Given the description of an element on the screen output the (x, y) to click on. 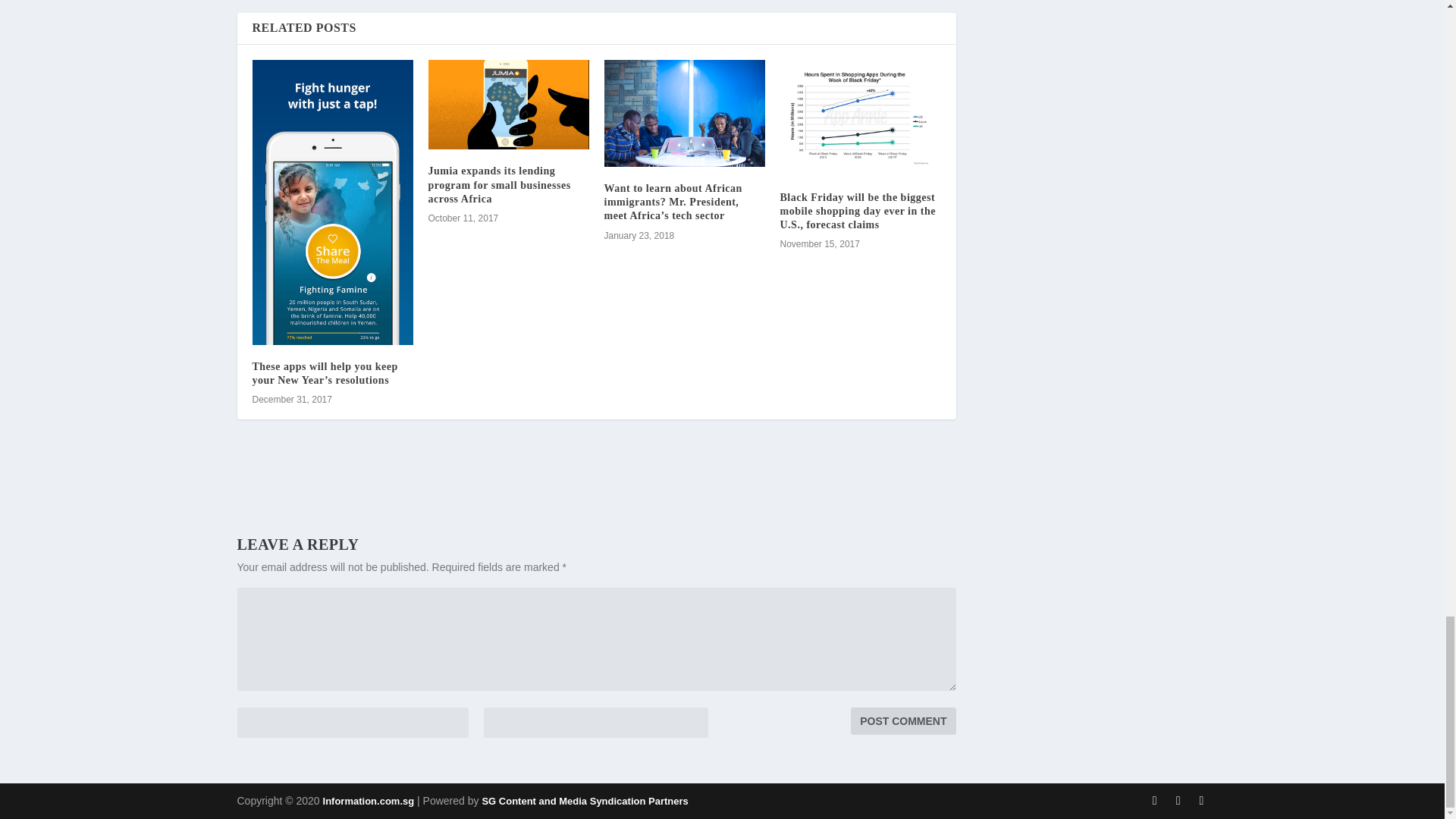
Post Comment (902, 720)
